Given the description of an element on the screen output the (x, y) to click on. 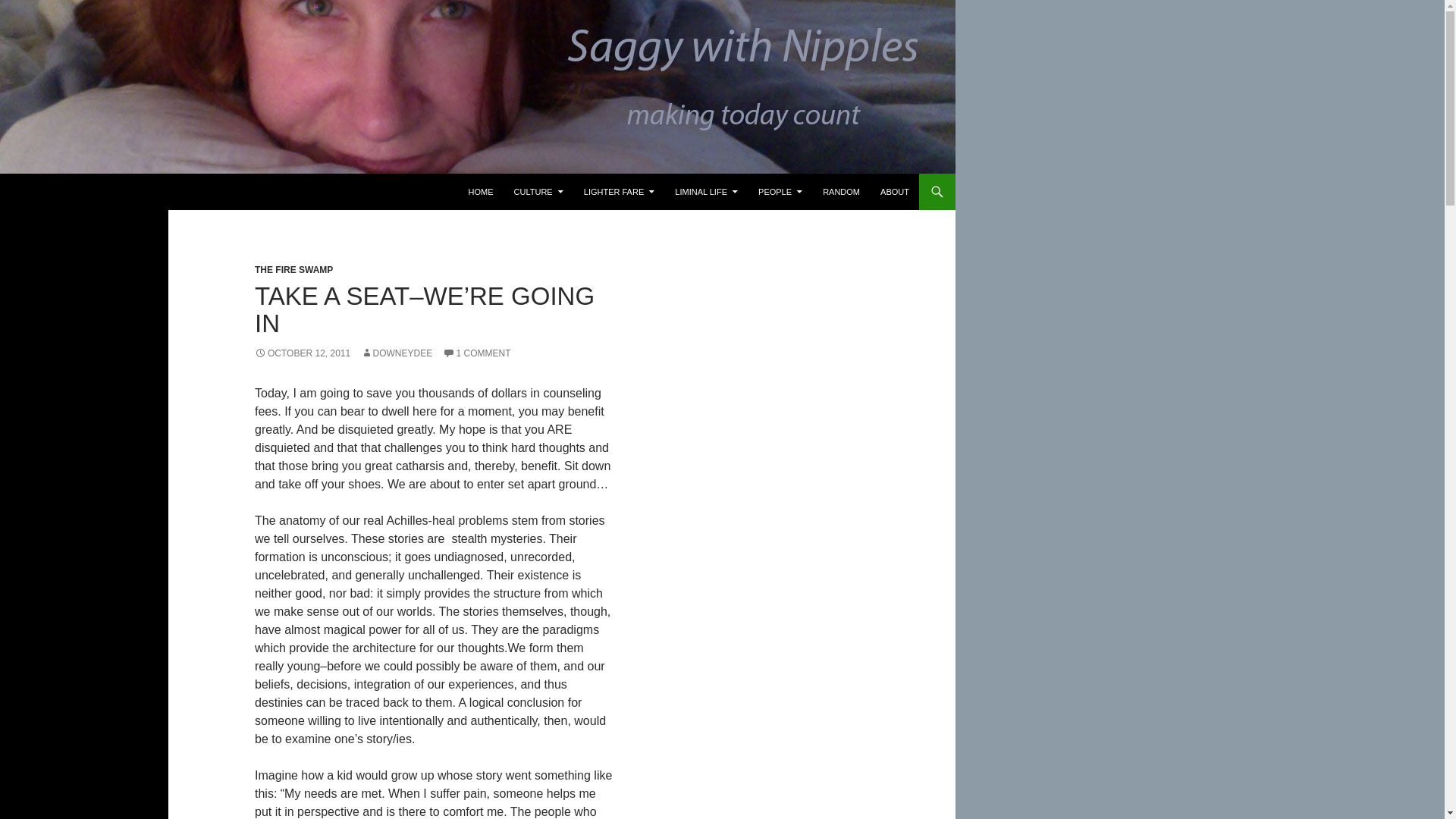
THE FIRE SWAMP (293, 269)
HOME (481, 191)
DOWNEYDEE (396, 353)
LIGHTER FARE (619, 191)
1 COMMENT (476, 353)
PEOPLE (779, 191)
CULTURE (538, 191)
LIMINAL LIFE (705, 191)
SaggyWithNipples (82, 191)
